Given the description of an element on the screen output the (x, y) to click on. 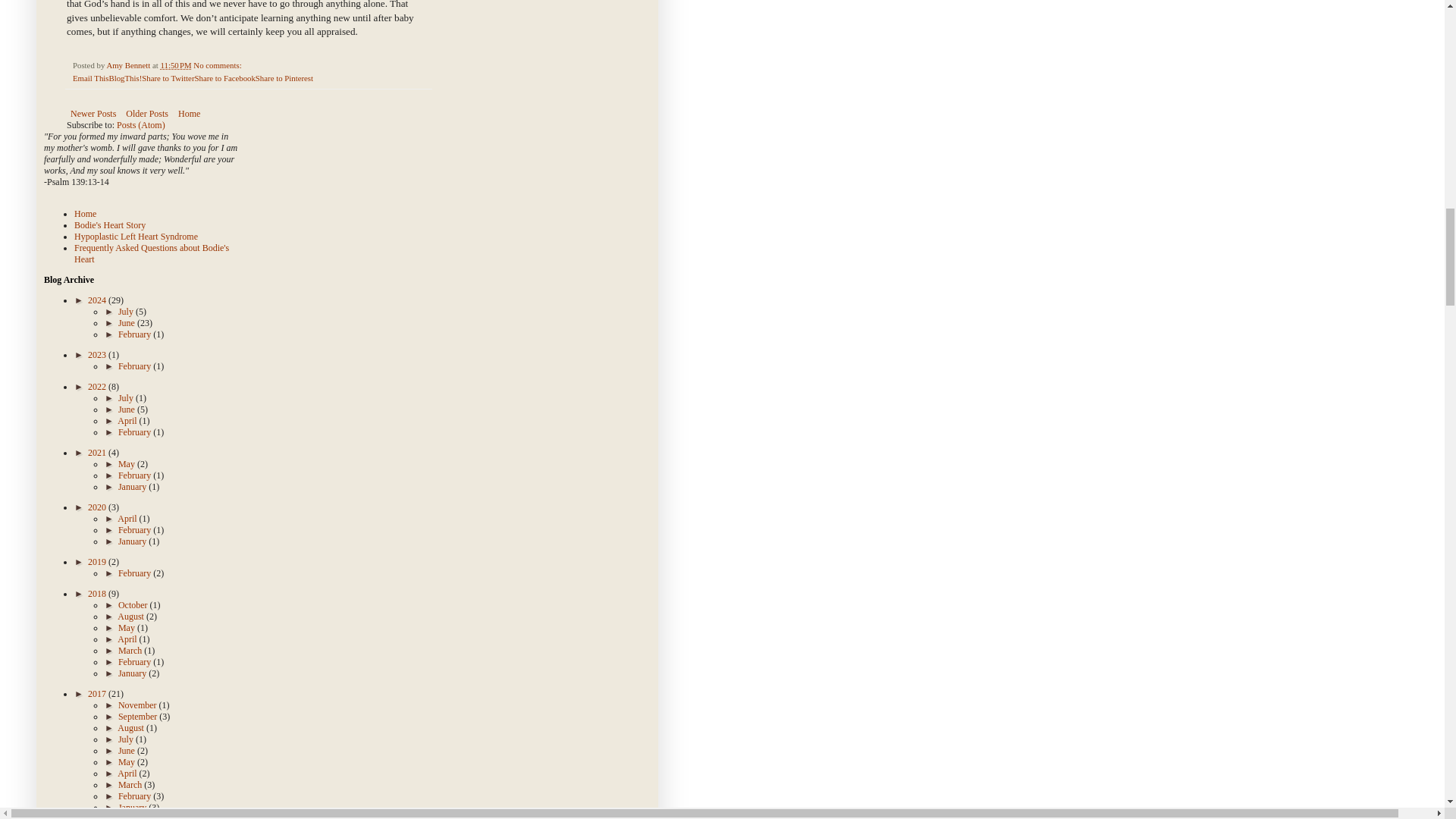
June (126, 409)
Newer Posts (92, 113)
Hypoplastic Left Heart Syndrome (136, 235)
Home (188, 113)
Email Post (250, 64)
Bodie's Heart Story (109, 225)
Share to Twitter (167, 77)
author profile (129, 64)
June (126, 322)
2022 (97, 386)
BlogThis! (124, 77)
Amy Bennett (129, 64)
Email This (89, 77)
2023 (97, 354)
No comments: (218, 64)
